Given the description of an element on the screen output the (x, y) to click on. 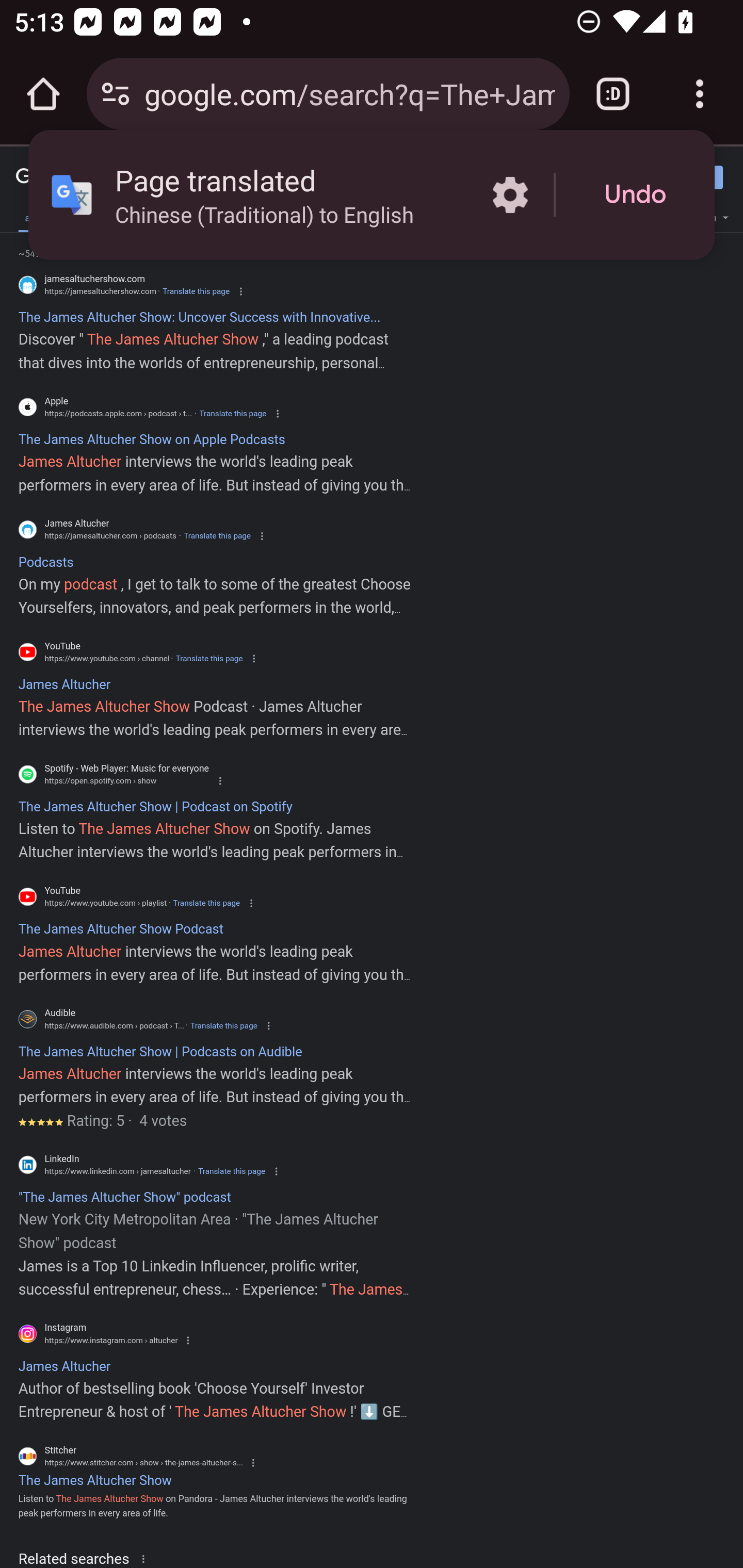
Open the home page (43, 93)
Connection is secure (115, 93)
Switch or close tabs (612, 93)
Customize and control Google Chrome (699, 93)
Undo (634, 195)
More options in the Page translated (509, 195)
Translate this page (195, 291)
Translate this page (232, 413)
Translate this page (217, 535)
Translate this page (208, 658)
Translate this page (206, 902)
Translate this page (223, 1025)
Translate this page (231, 1171)
About this result (146, 1557)
